Given the description of an element on the screen output the (x, y) to click on. 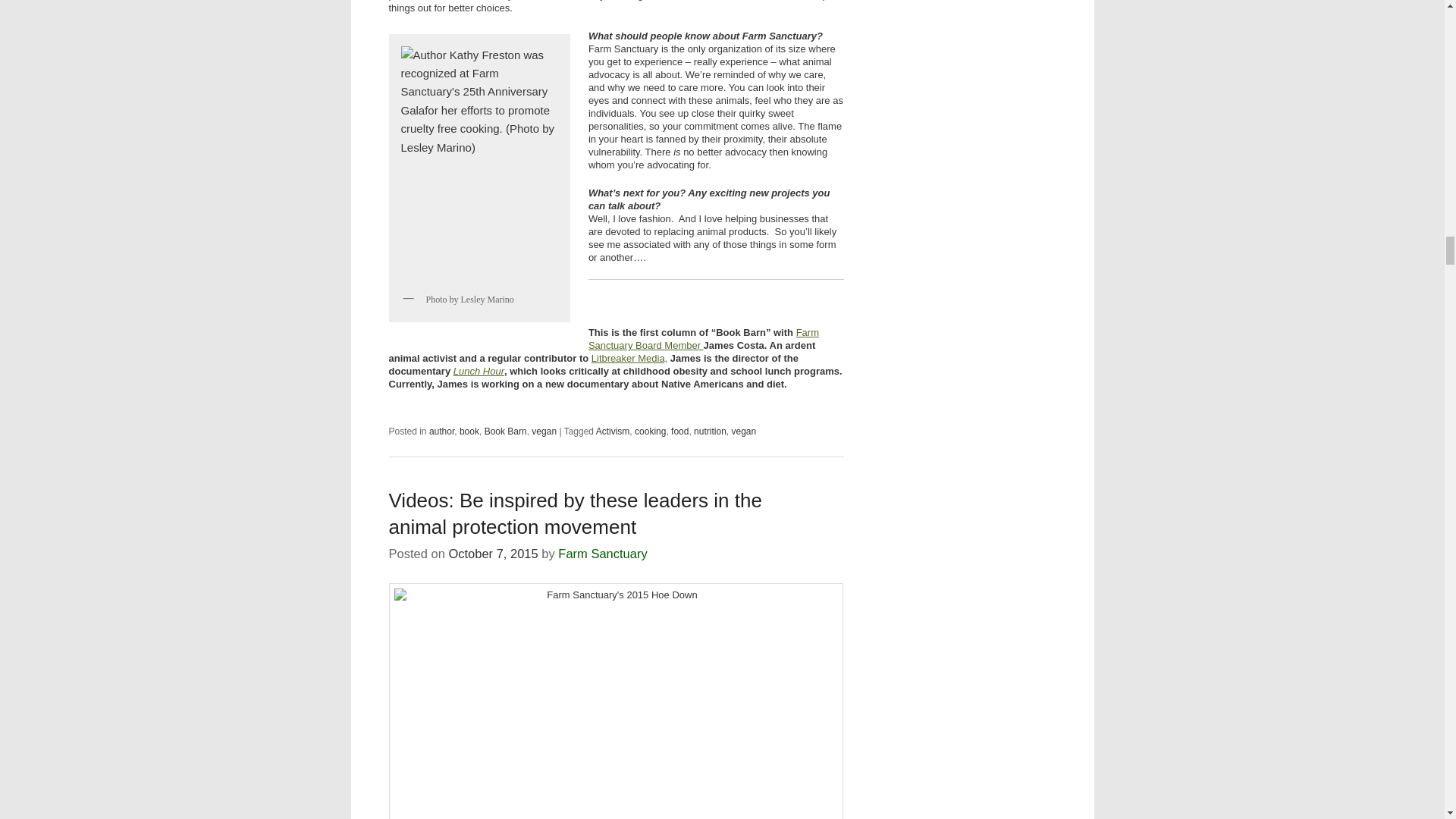
View all posts by Farm Sanctuary (601, 553)
12:44 pm (492, 553)
